Given the description of an element on the screen output the (x, y) to click on. 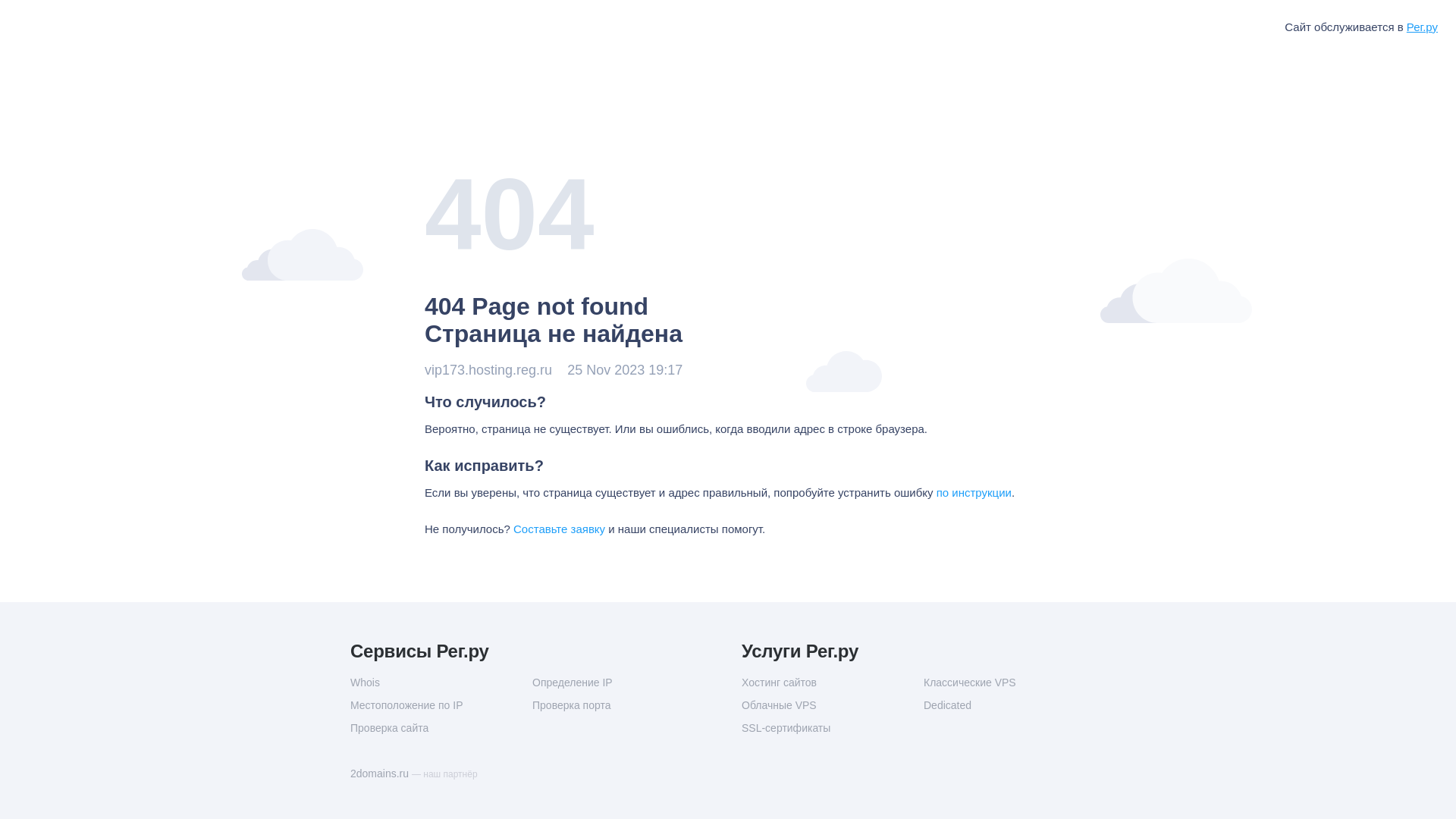
Whois Element type: text (441, 682)
Dedicated Element type: text (1014, 705)
2domains.ru Element type: text (380, 773)
